Given the description of an element on the screen output the (x, y) to click on. 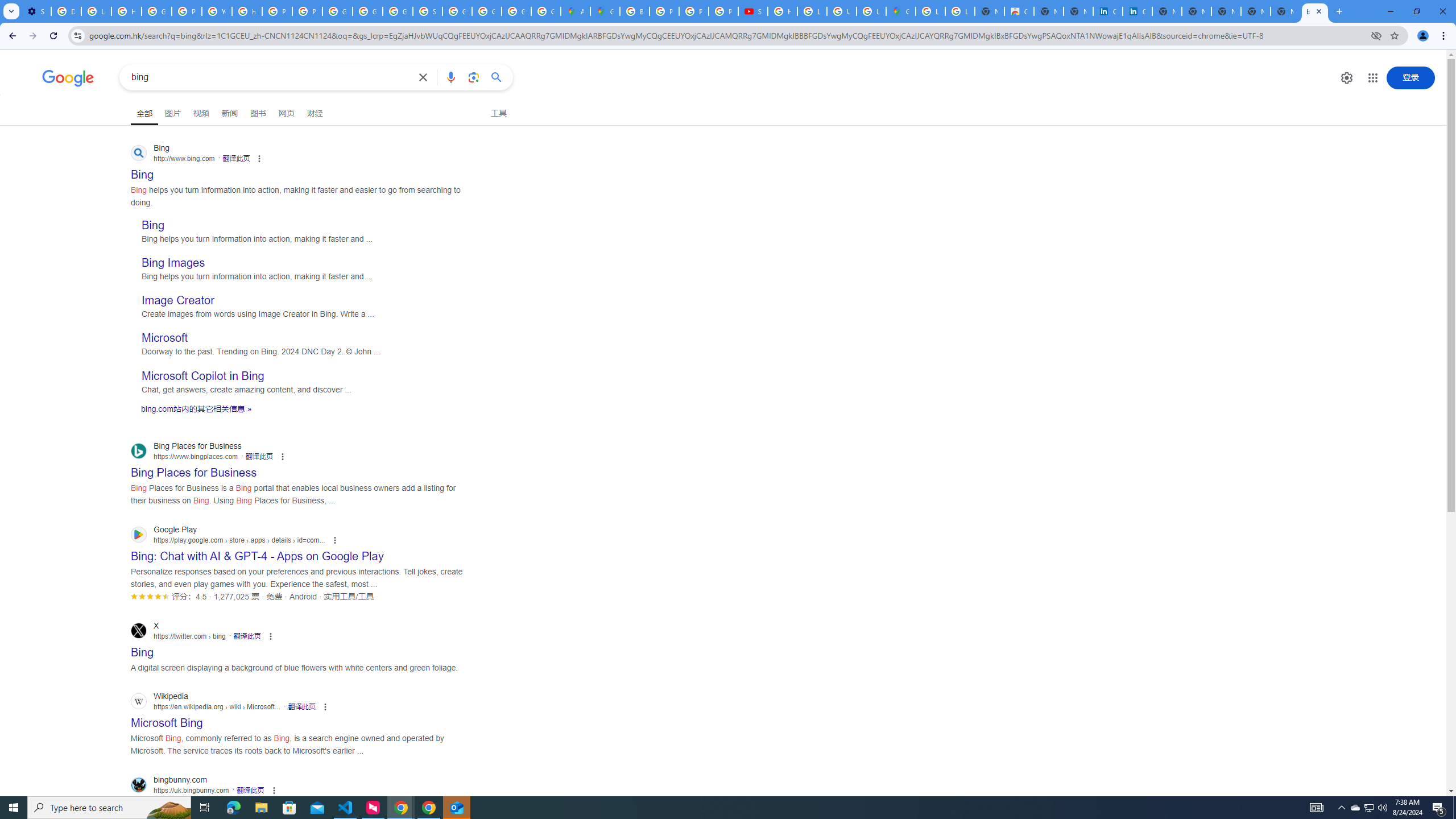
https://scholar.google.com/ (247, 11)
